Given the description of an element on the screen output the (x, y) to click on. 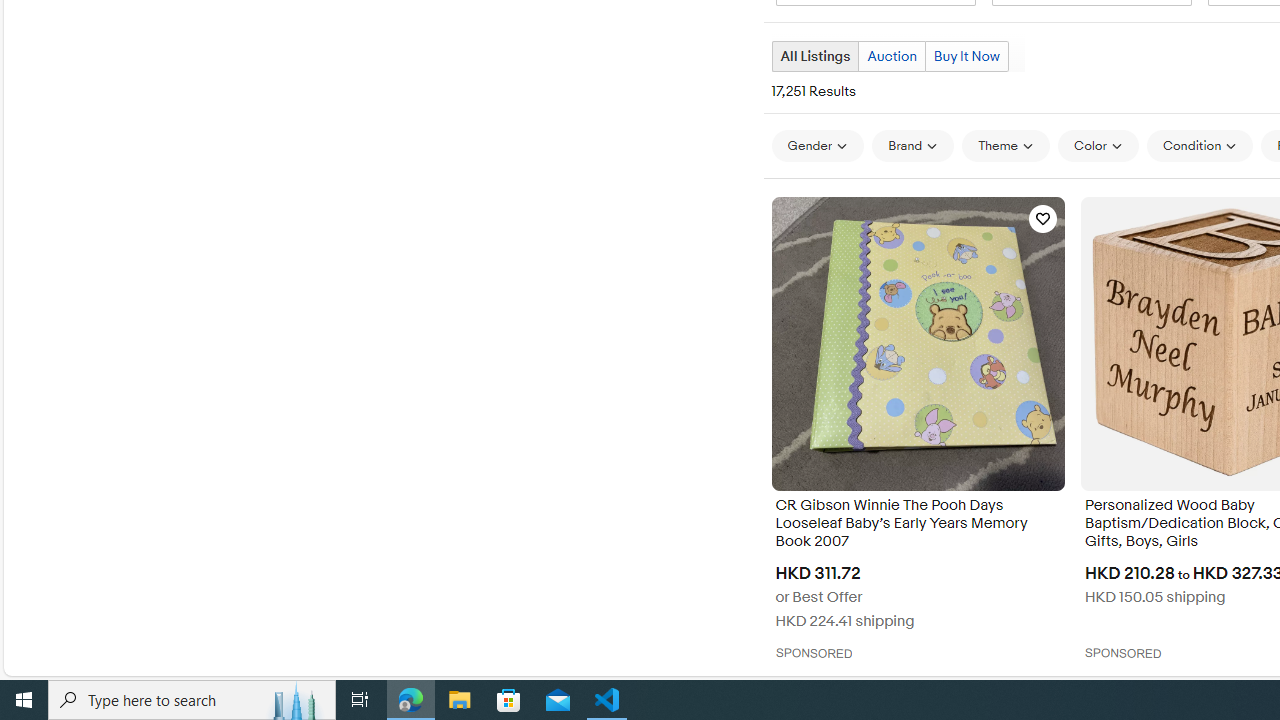
All Listings Current view (814, 56)
Auction (891, 56)
Color (1098, 145)
Condition (1199, 145)
